Given the description of an element on the screen output the (x, y) to click on. 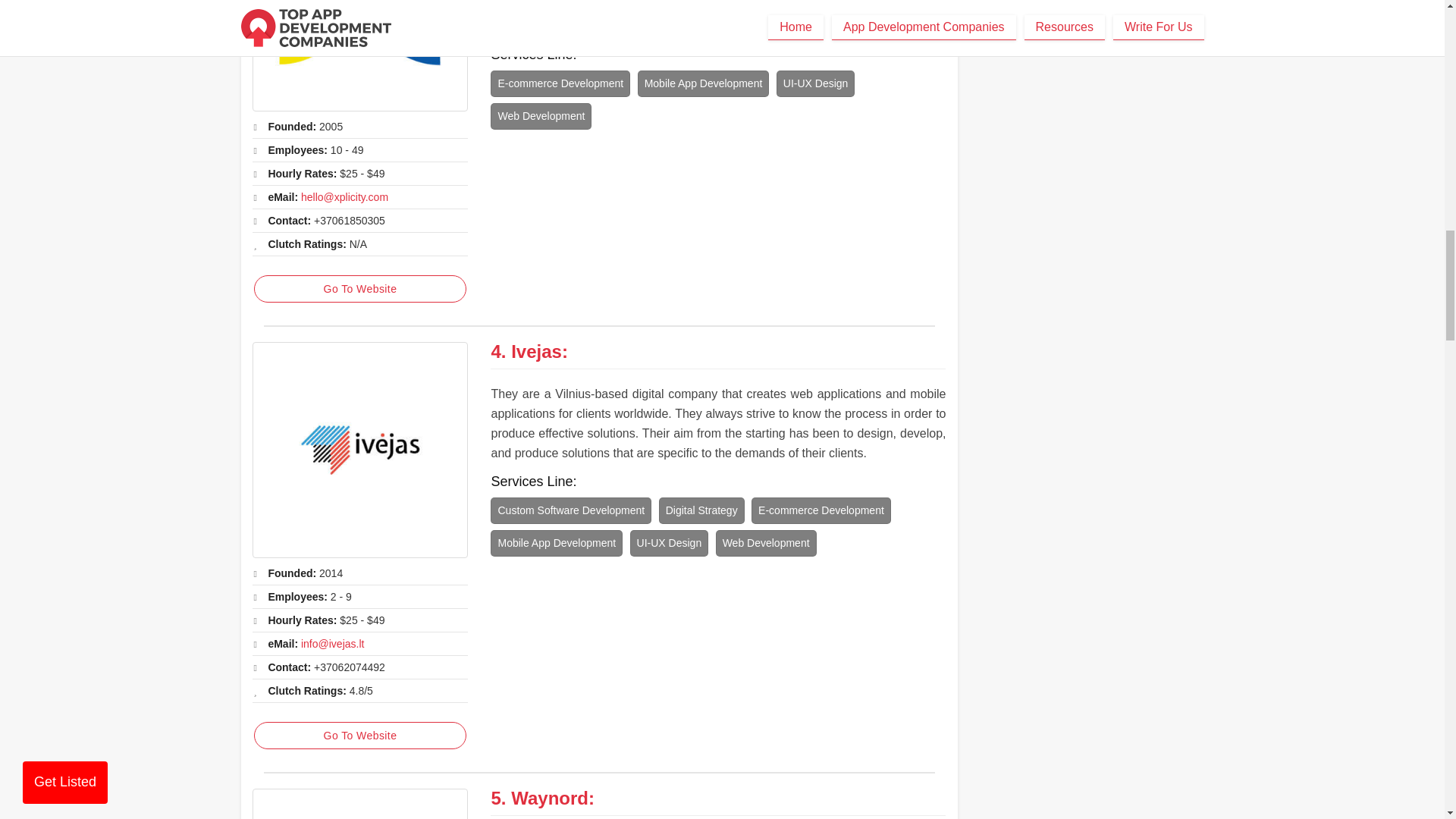
Xplicity (359, 55)
Waynord (359, 803)
Waynord (549, 797)
Go To Website (359, 735)
Ivejas (359, 449)
Ivejas (536, 351)
Go To Website (359, 288)
